Given the description of an element on the screen output the (x, y) to click on. 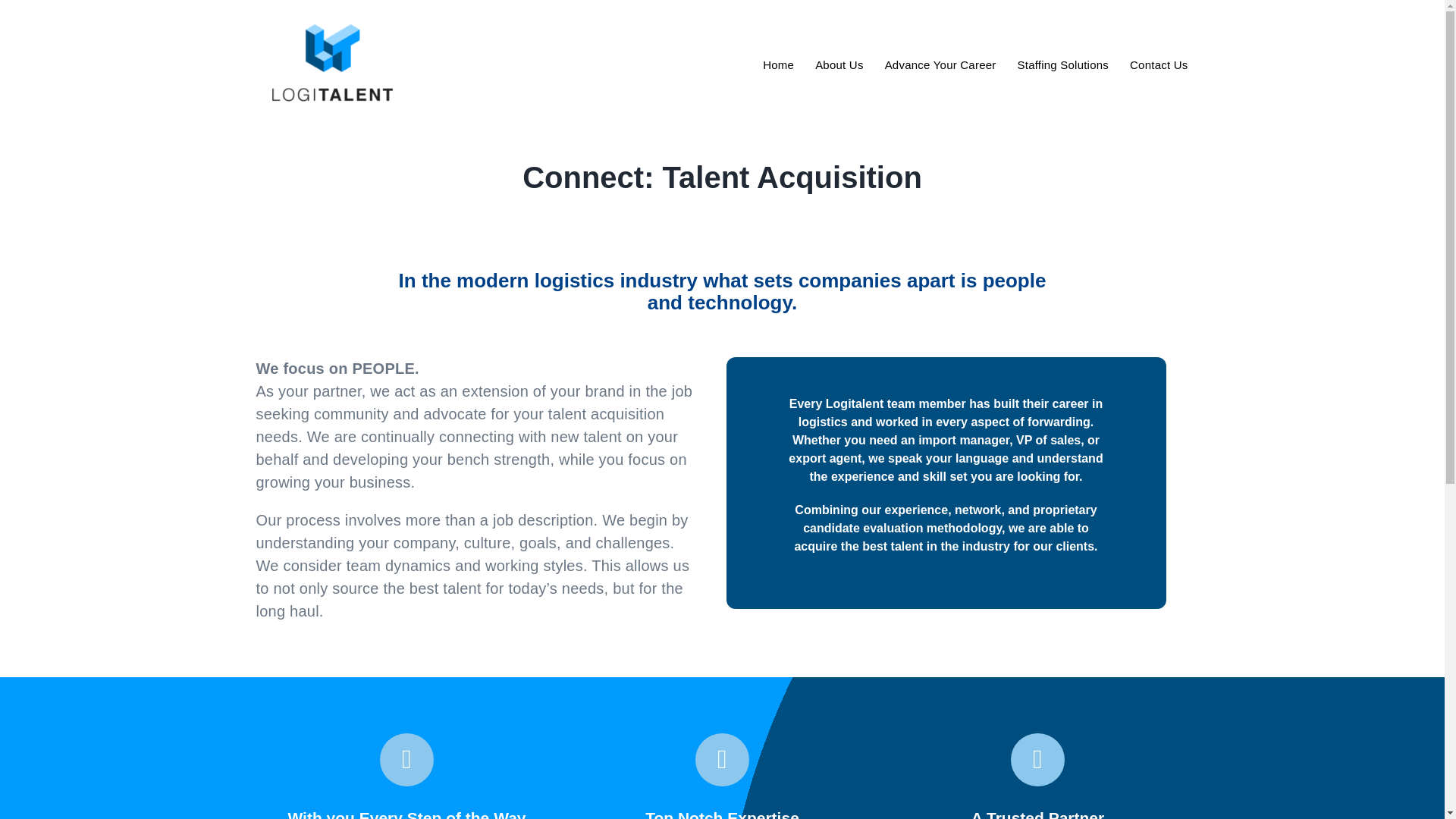
Staffing Solutions (1063, 64)
Contact Us (1158, 64)
About Us (839, 64)
Advance Your Career (940, 64)
Home (778, 64)
